Given the description of an element on the screen output the (x, y) to click on. 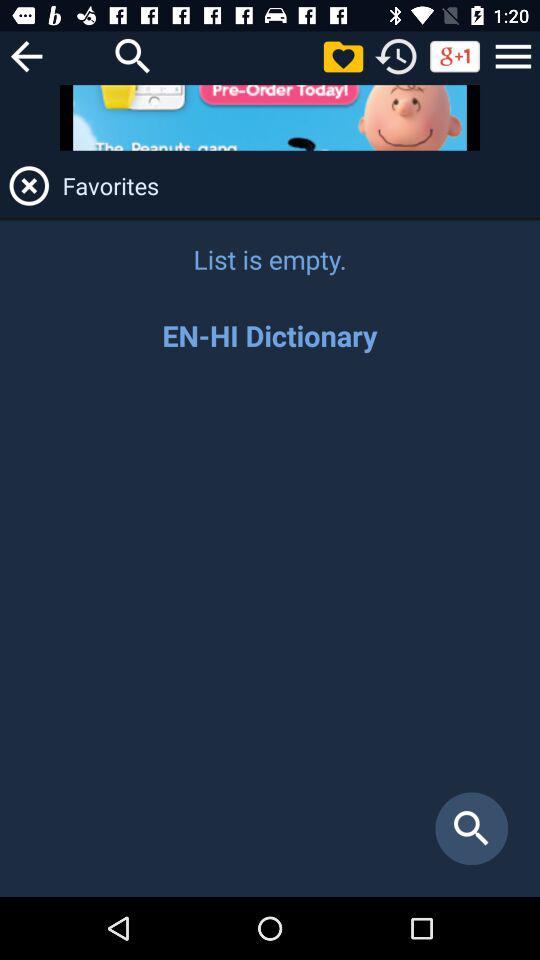
closes the favorites list (29, 185)
